Given the description of an element on the screen output the (x, y) to click on. 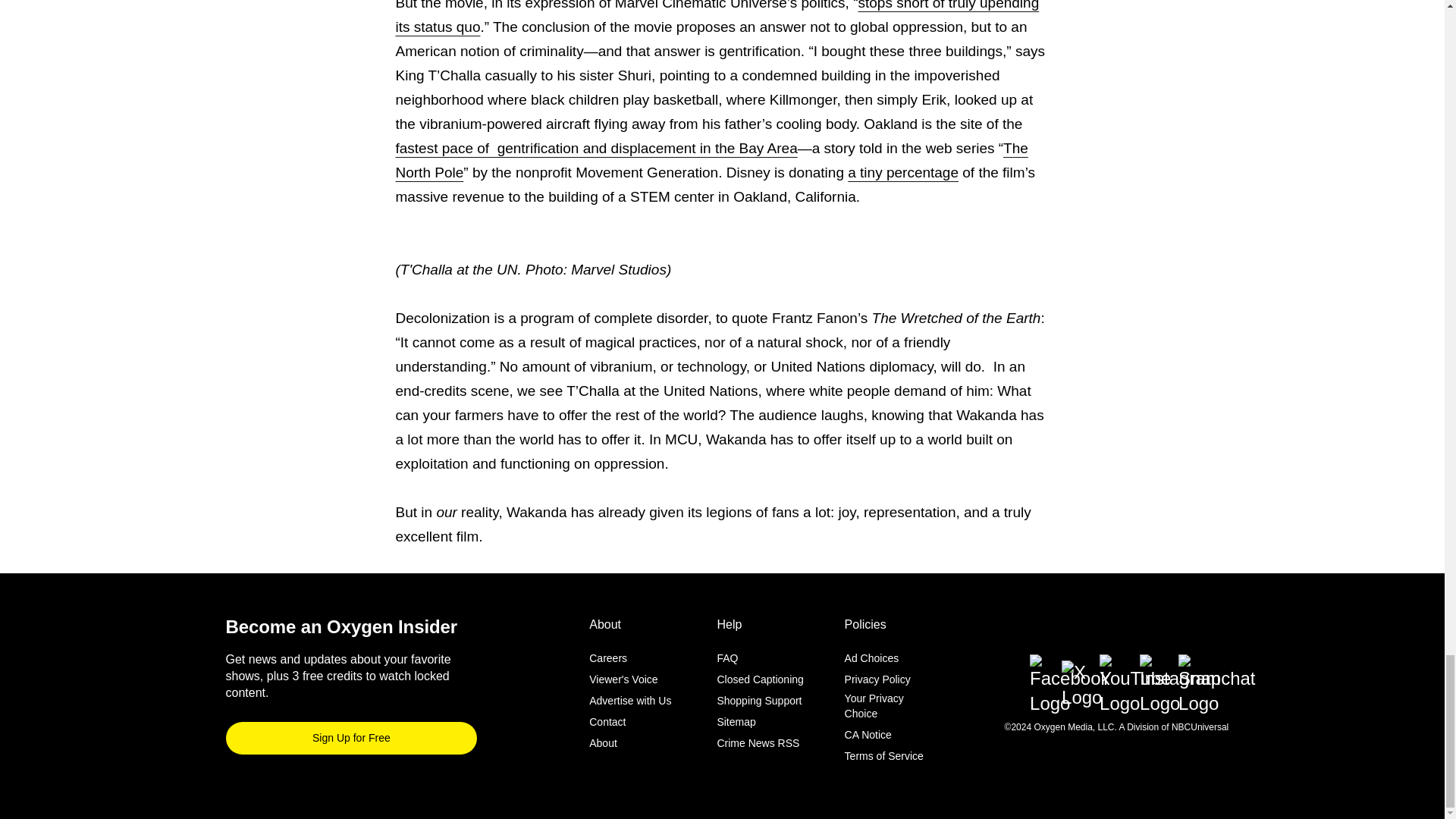
a tiny percentage (902, 172)
The North Pole (711, 160)
Advertise with Us (630, 700)
stops short of truly upending its status quo (717, 17)
